Given the description of an element on the screen output the (x, y) to click on. 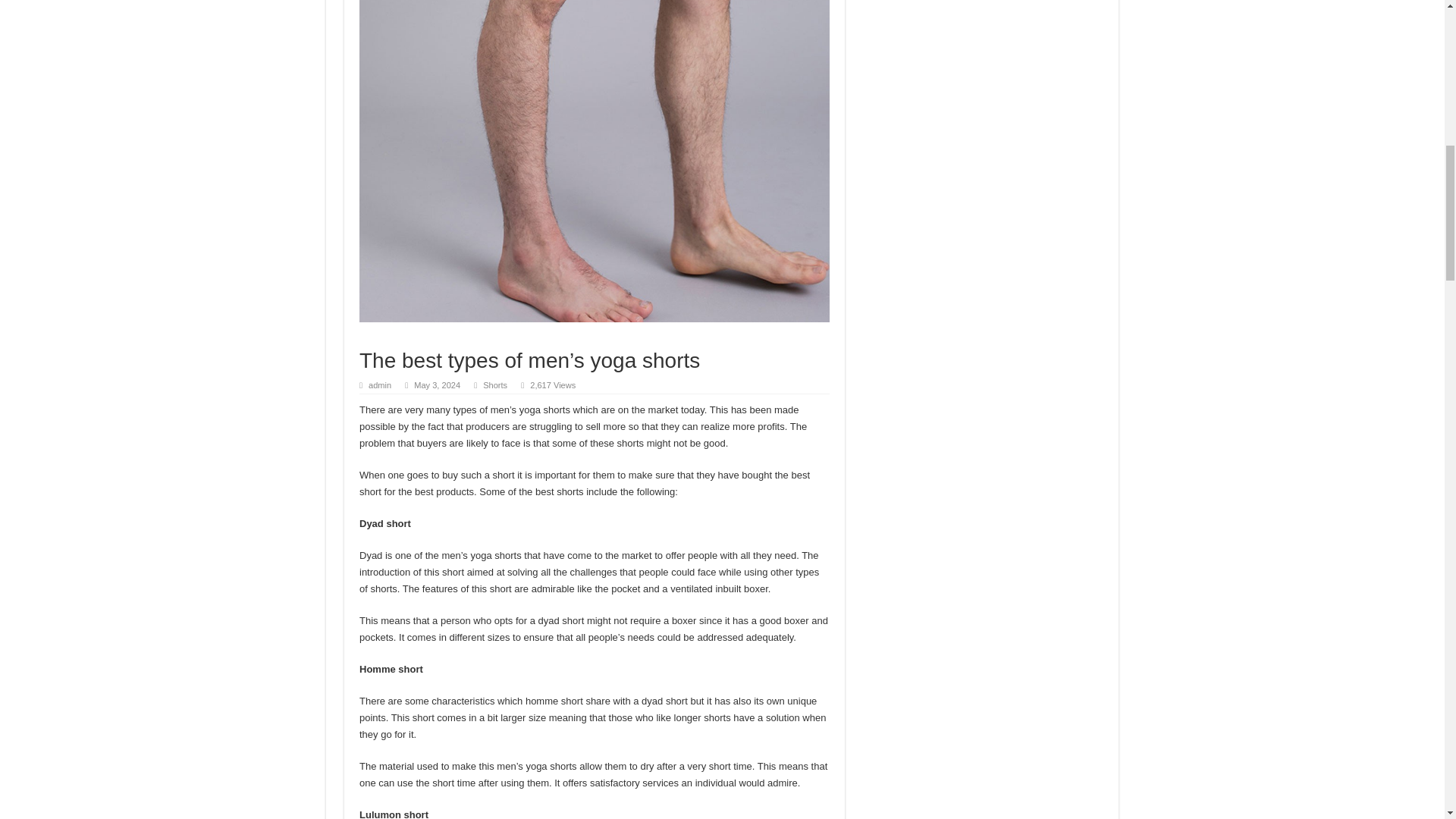
admin (379, 384)
Advertisement (982, 29)
Scroll To Top (1421, 60)
Shorts (494, 384)
